Given the description of an element on the screen output the (x, y) to click on. 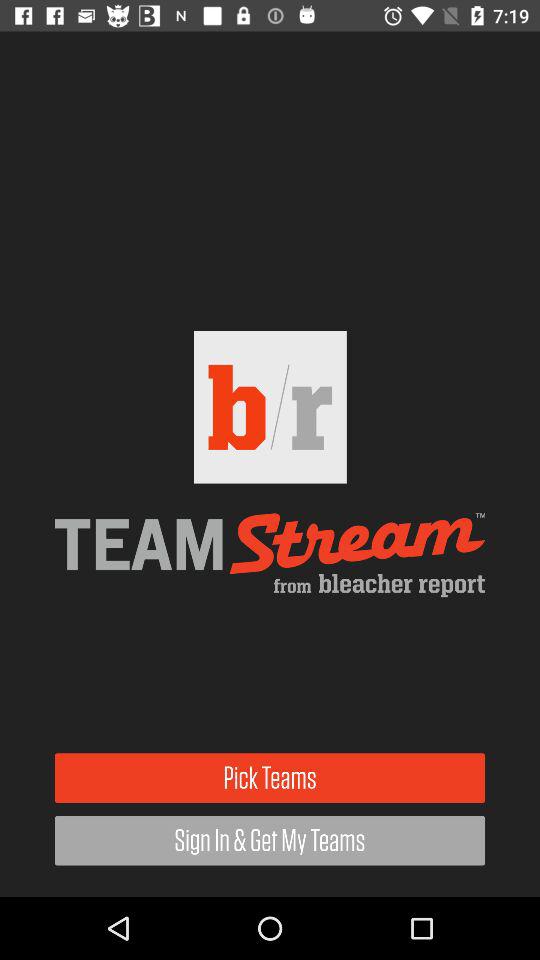
jump until the sign in get item (269, 840)
